Given the description of an element on the screen output the (x, y) to click on. 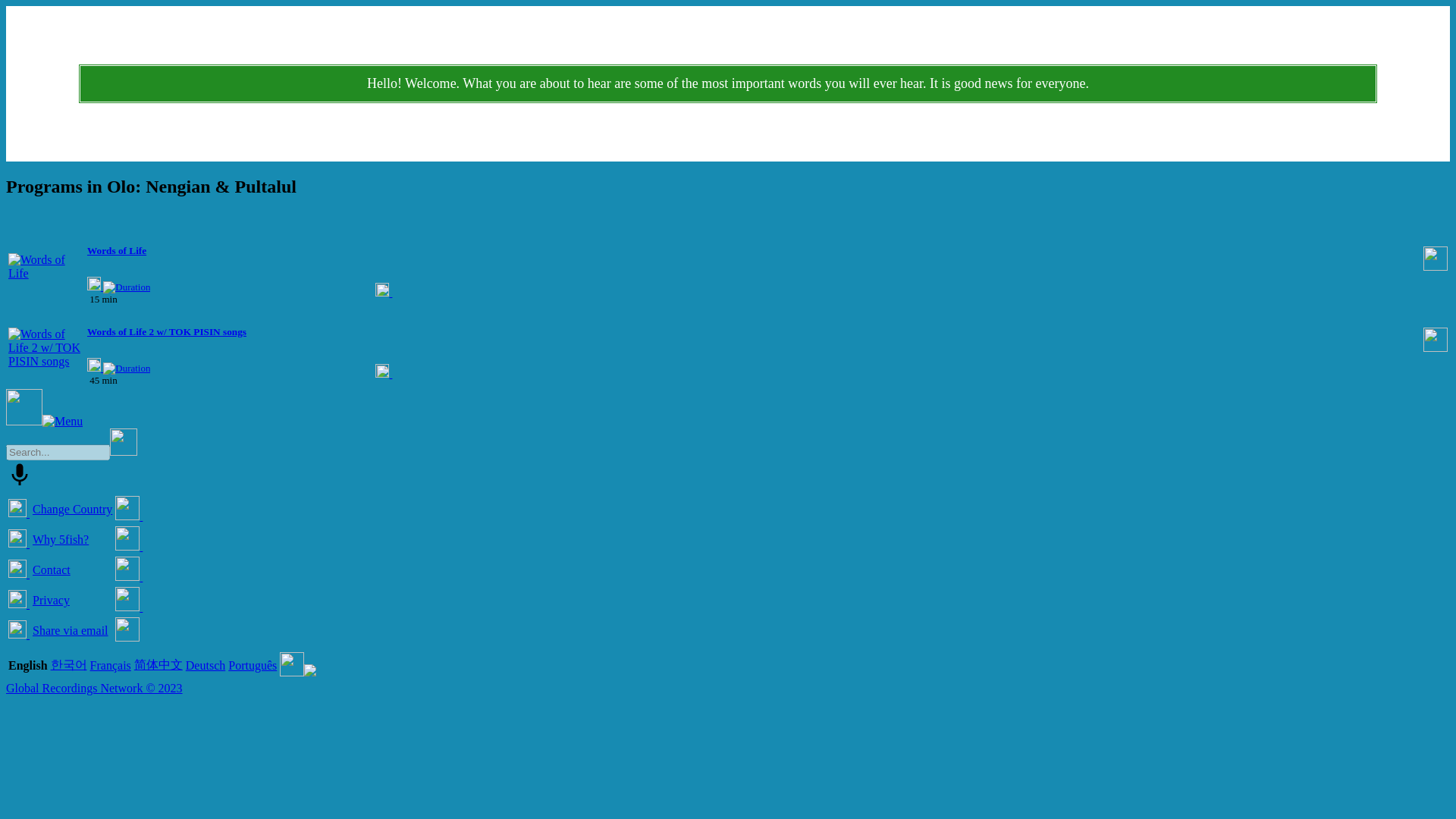
Share via email (69, 630)
Contact (50, 569)
Change Country (72, 508)
Deutsch (205, 665)
Why 5fish? (60, 539)
Privacy (50, 599)
